Given the description of an element on the screen output the (x, y) to click on. 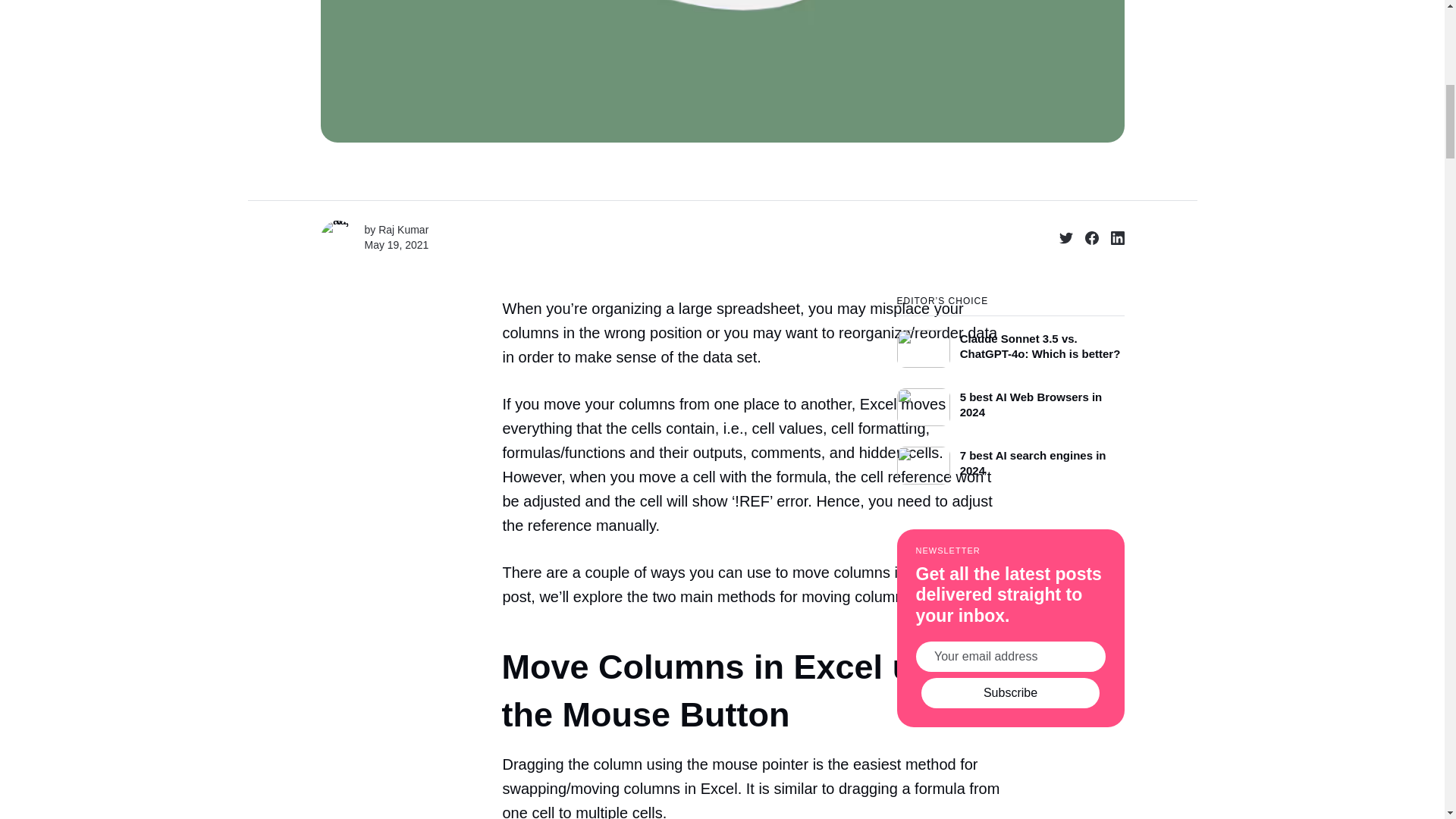
7 best AI search engines in 2024 (1010, 461)
5 best AI Web Browsers in 2024 (1010, 402)
Raj Kumar (403, 229)
Claude Sonnet 3.5 vs. ChatGPT-4o: Which is better? (1010, 341)
Subscribe (1010, 693)
